Given the description of an element on the screen output the (x, y) to click on. 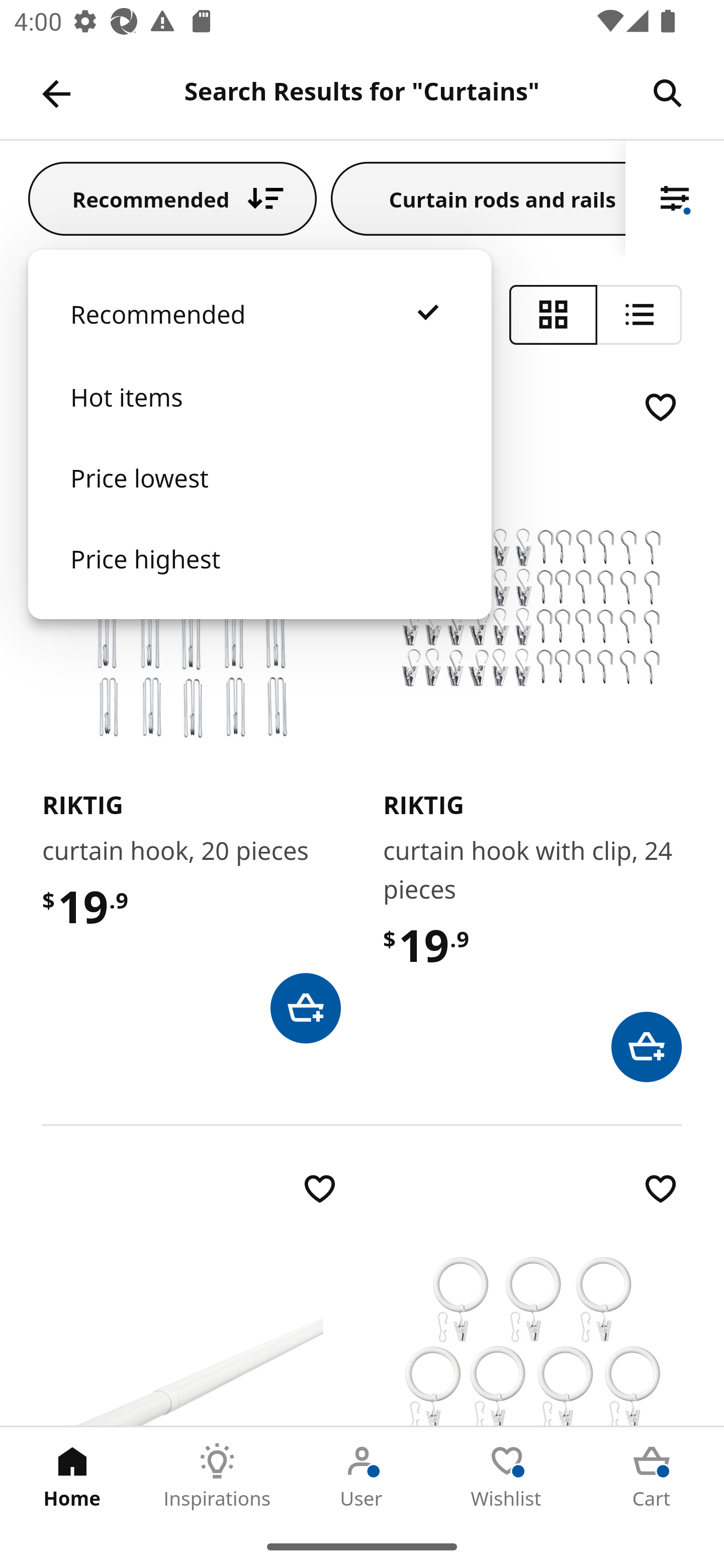
Recommended (172, 198)
Curtain rods and rails (477, 198)
Recommended (259, 333)
Hot items (259, 416)
​R​I​K​T​I​G​
curtain hook, 20 pieces
$
19
.9 (191, 714)
Price lowest (259, 497)
Price highest (259, 578)
Home
Tab 1 of 5 (72, 1476)
Inspirations
Tab 2 of 5 (216, 1476)
User
Tab 3 of 5 (361, 1476)
Wishlist
Tab 4 of 5 (506, 1476)
Cart
Tab 5 of 5 (651, 1476)
